Given the description of an element on the screen output the (x, y) to click on. 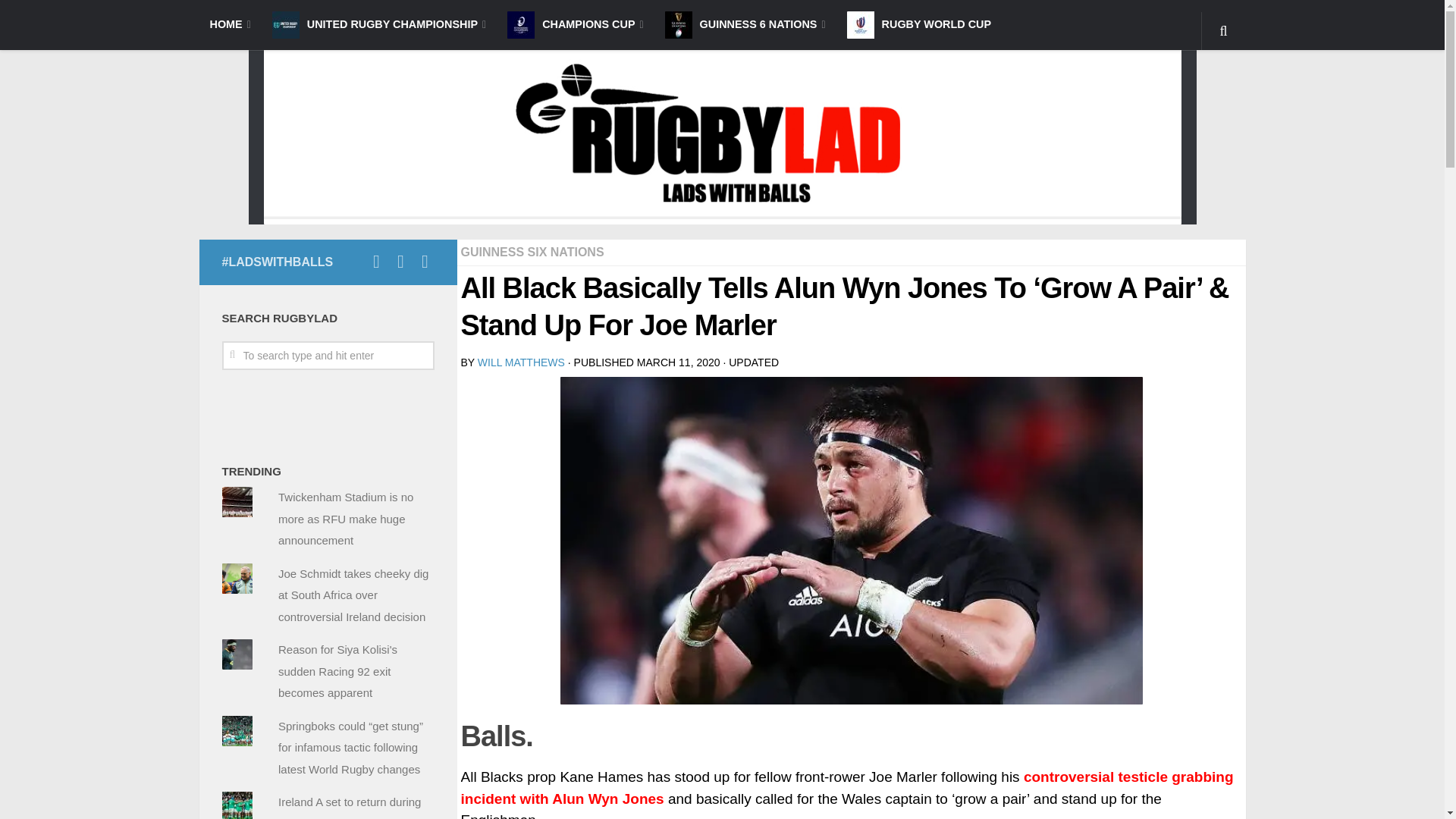
GUINNESS 6 NATIONS (744, 24)
HOME (229, 23)
CHAMPIONS CUP (574, 24)
Posts by Will Matthews (520, 362)
RUGBY WORLD CUP (918, 24)
Follow us on Instagram (400, 260)
Like us on Facebook (375, 260)
To search type and hit enter (327, 355)
Facebook (351, 260)
UNITED RUGBY CHAMPIONSHIP (379, 24)
Follow us on Twitter (423, 260)
WILL MATTHEWS (520, 362)
To search type and hit enter (327, 355)
controversial testicle grabbing incident with Alun Wyn Jones (847, 787)
GUINNESS SIX NATIONS (532, 251)
